Given the description of an element on the screen output the (x, y) to click on. 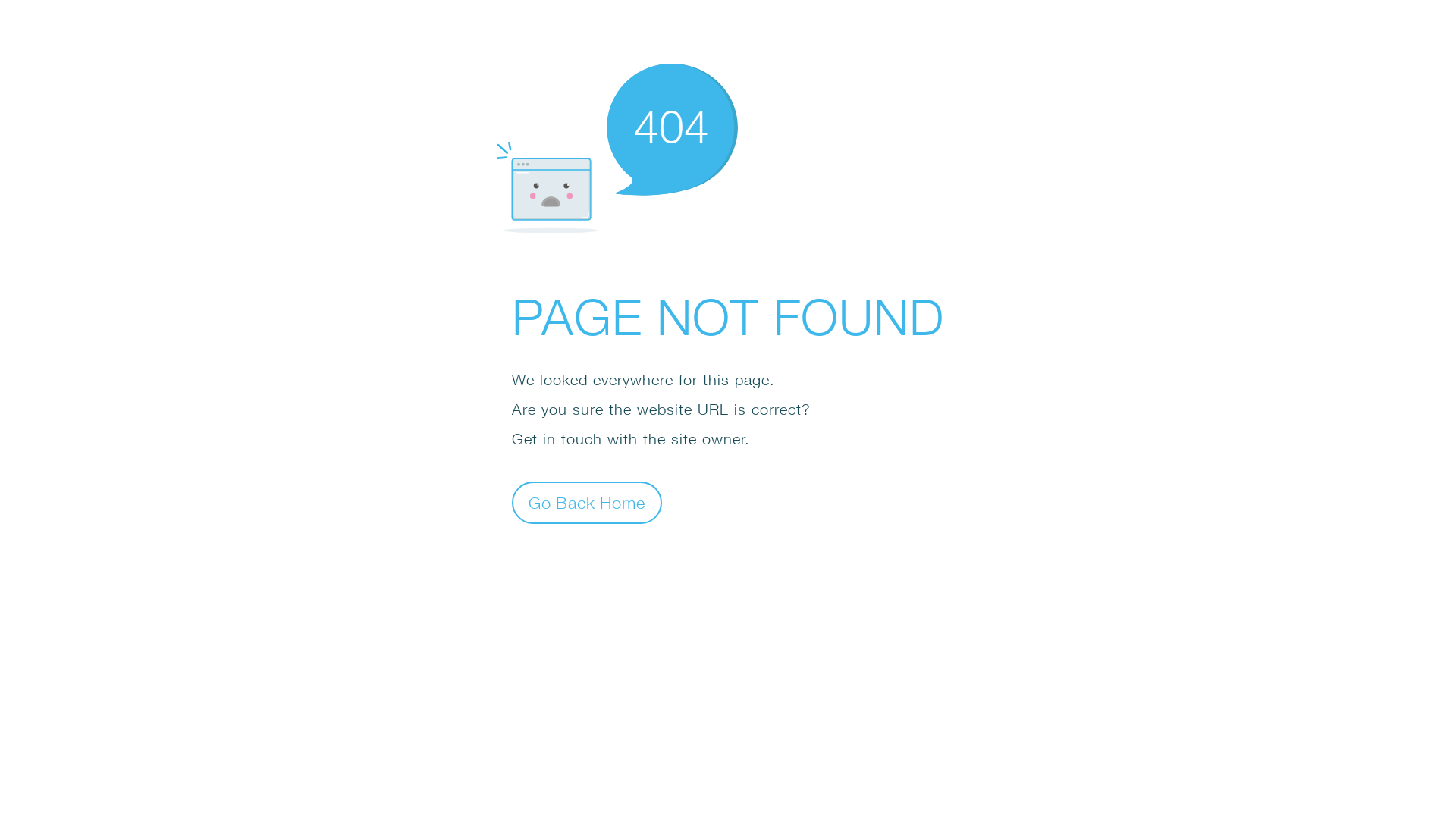
Go Back Home Element type: text (586, 502)
